Given the description of an element on the screen output the (x, y) to click on. 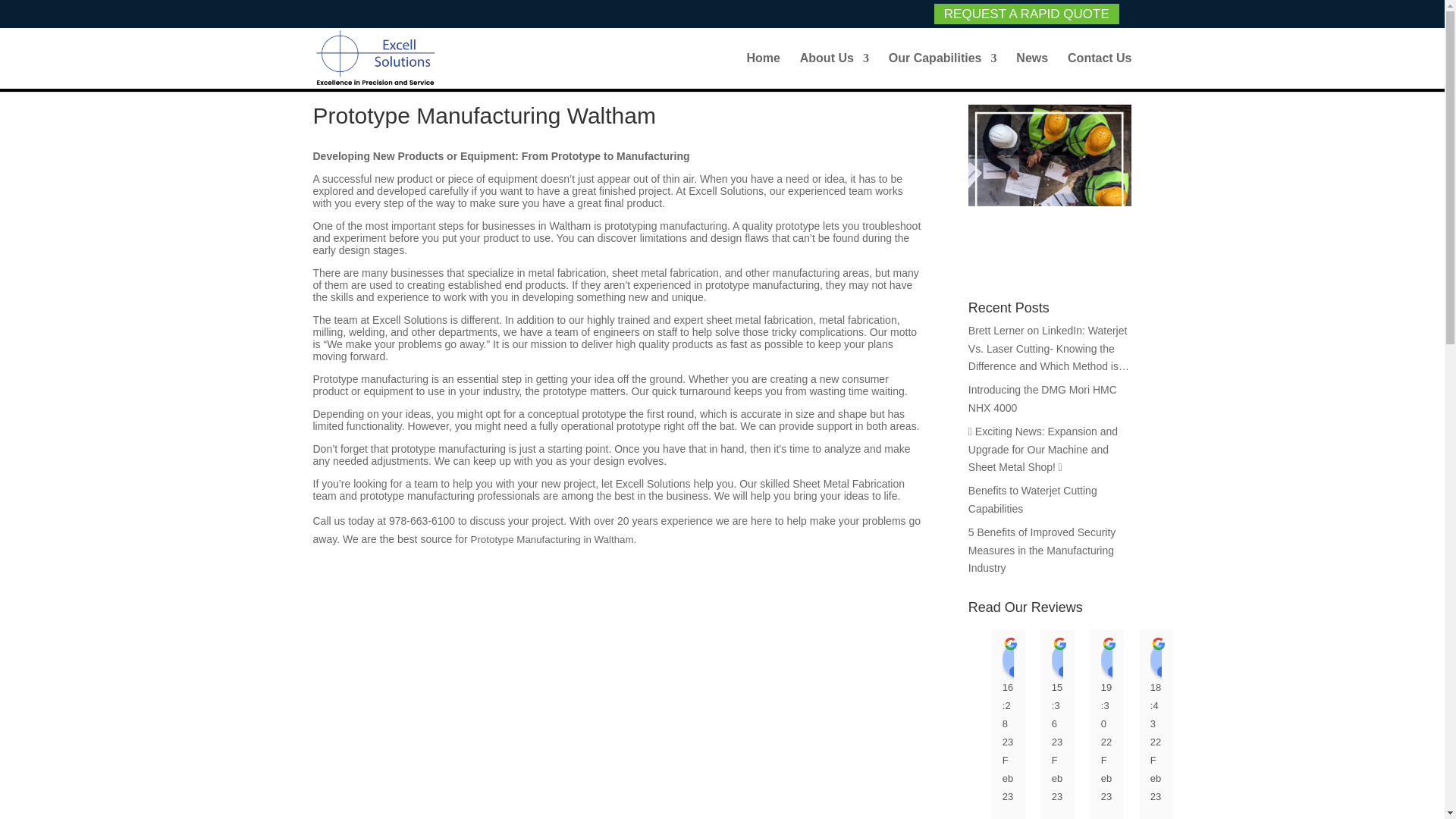
Our Capabilities (942, 70)
Benefits to Waterjet Cutting Capabilities (1032, 499)
News (1032, 70)
Introducing the DMG Mori HMC NHX 4000 (1042, 399)
Home (761, 70)
Aaron Powers (1218, 659)
REQUEST A RAPID QUOTE (1026, 14)
Georgios Ardamerinos (1169, 659)
About Us (834, 70)
